Given the description of an element on the screen output the (x, y) to click on. 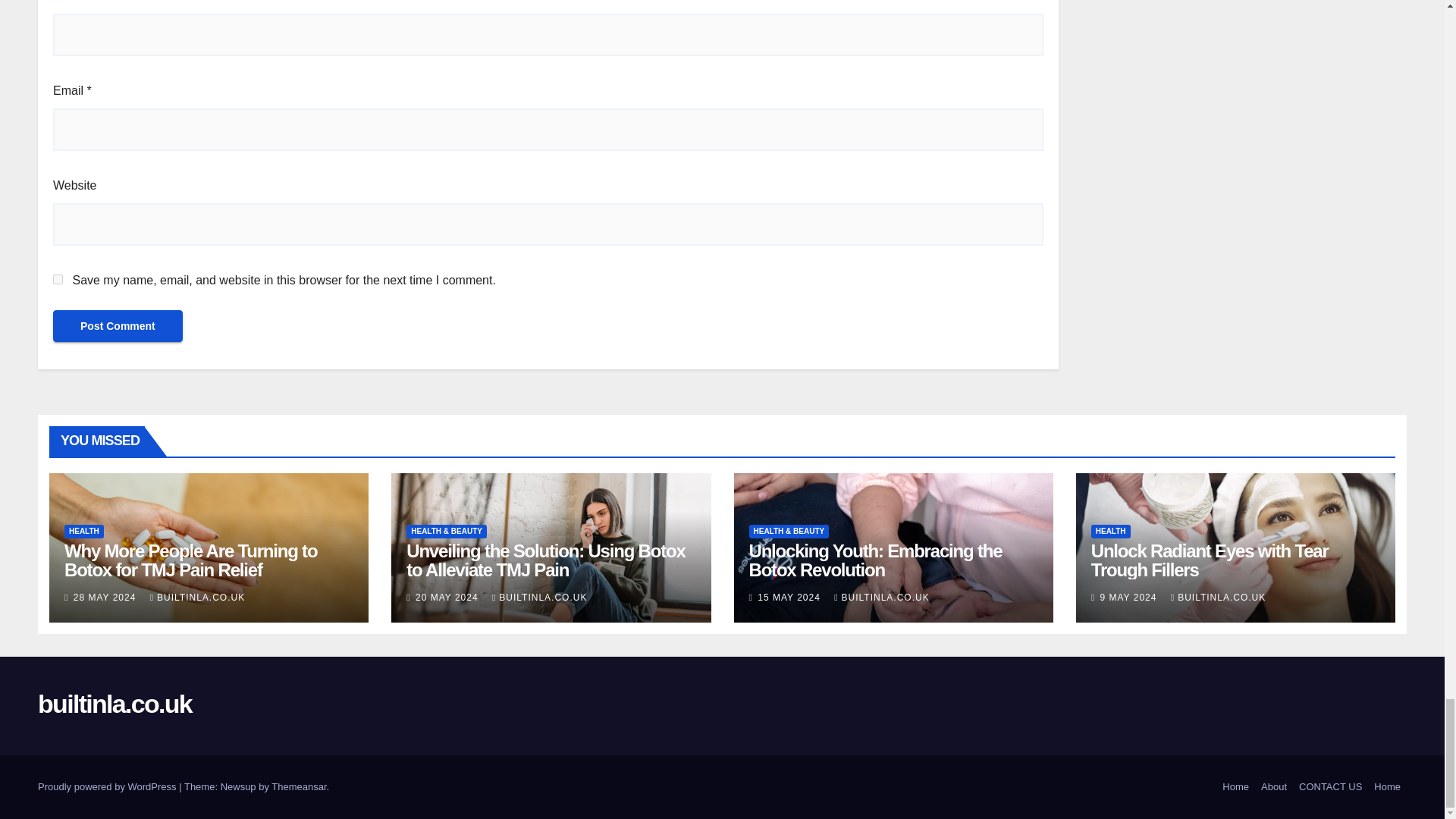
yes (57, 279)
Post Comment (117, 326)
